Given the description of an element on the screen output the (x, y) to click on. 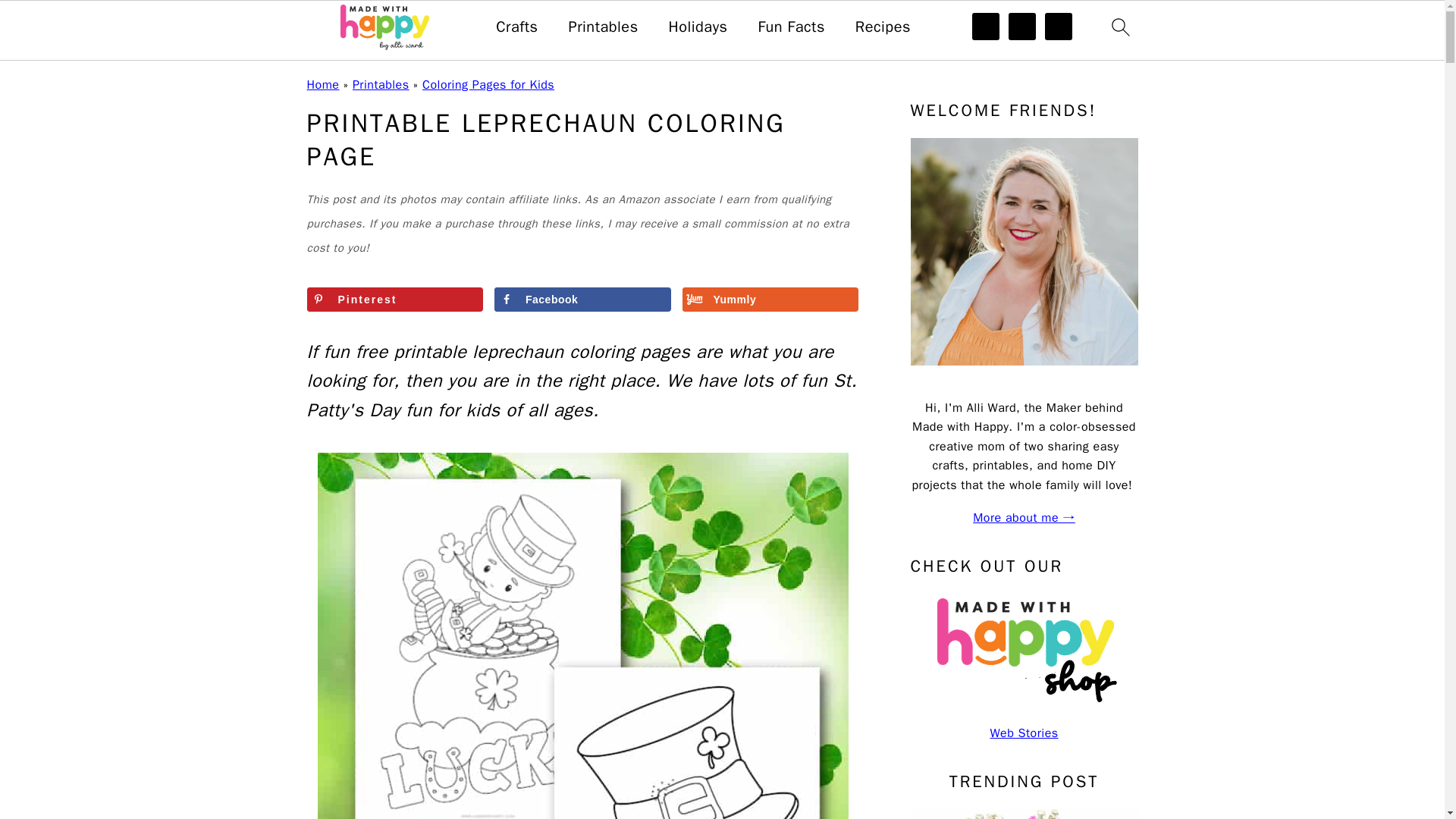
search icon (1119, 26)
Printables (602, 27)
Fun Facts (790, 27)
Holidays (698, 27)
Share on Facebook (583, 299)
Save to Pinterest (394, 299)
Share on Yummly (770, 299)
Recipes (883, 27)
Crafts (516, 27)
